Given the description of an element on the screen output the (x, y) to click on. 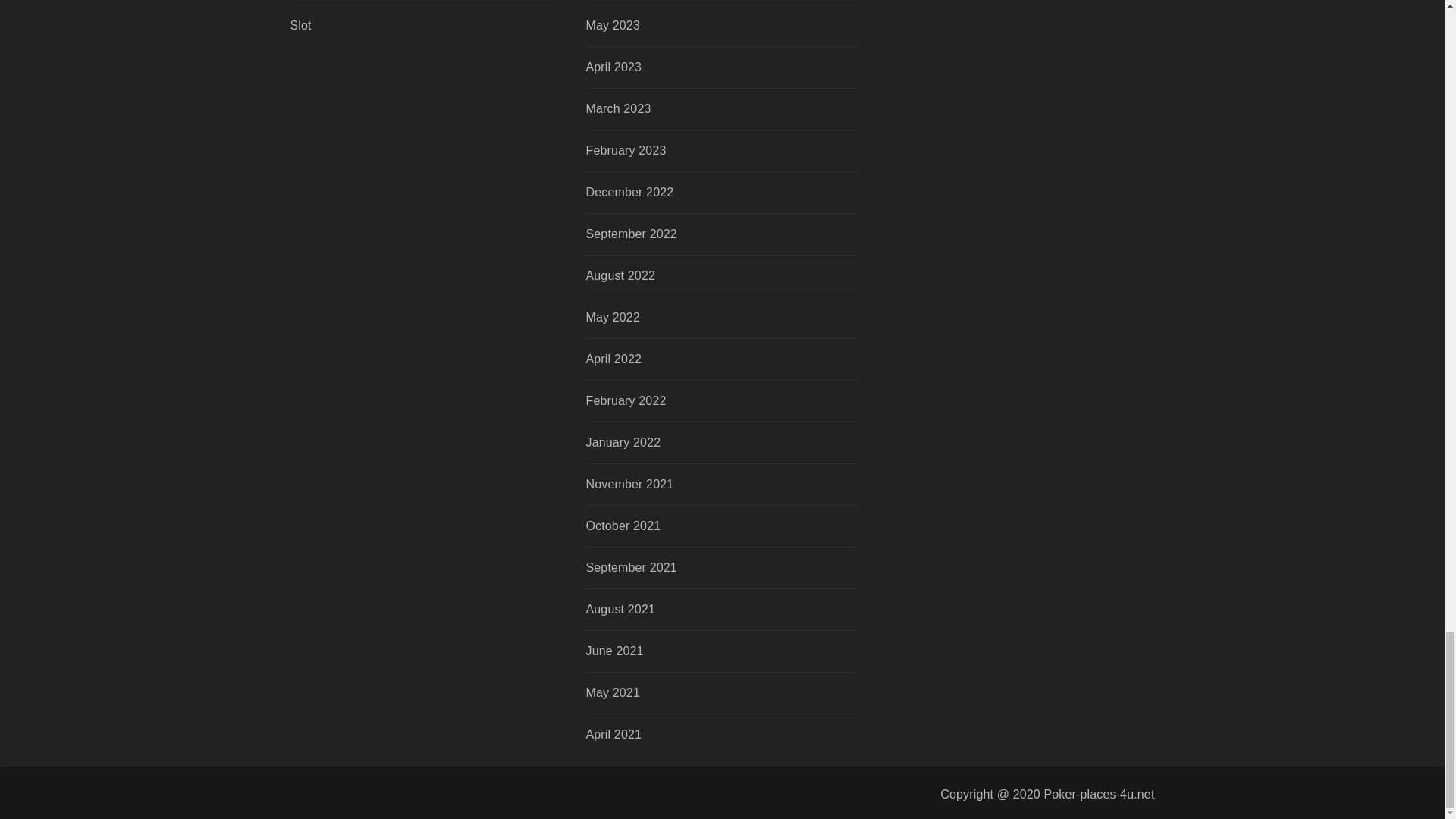
Slot (398, 25)
